Given the description of an element on the screen output the (x, y) to click on. 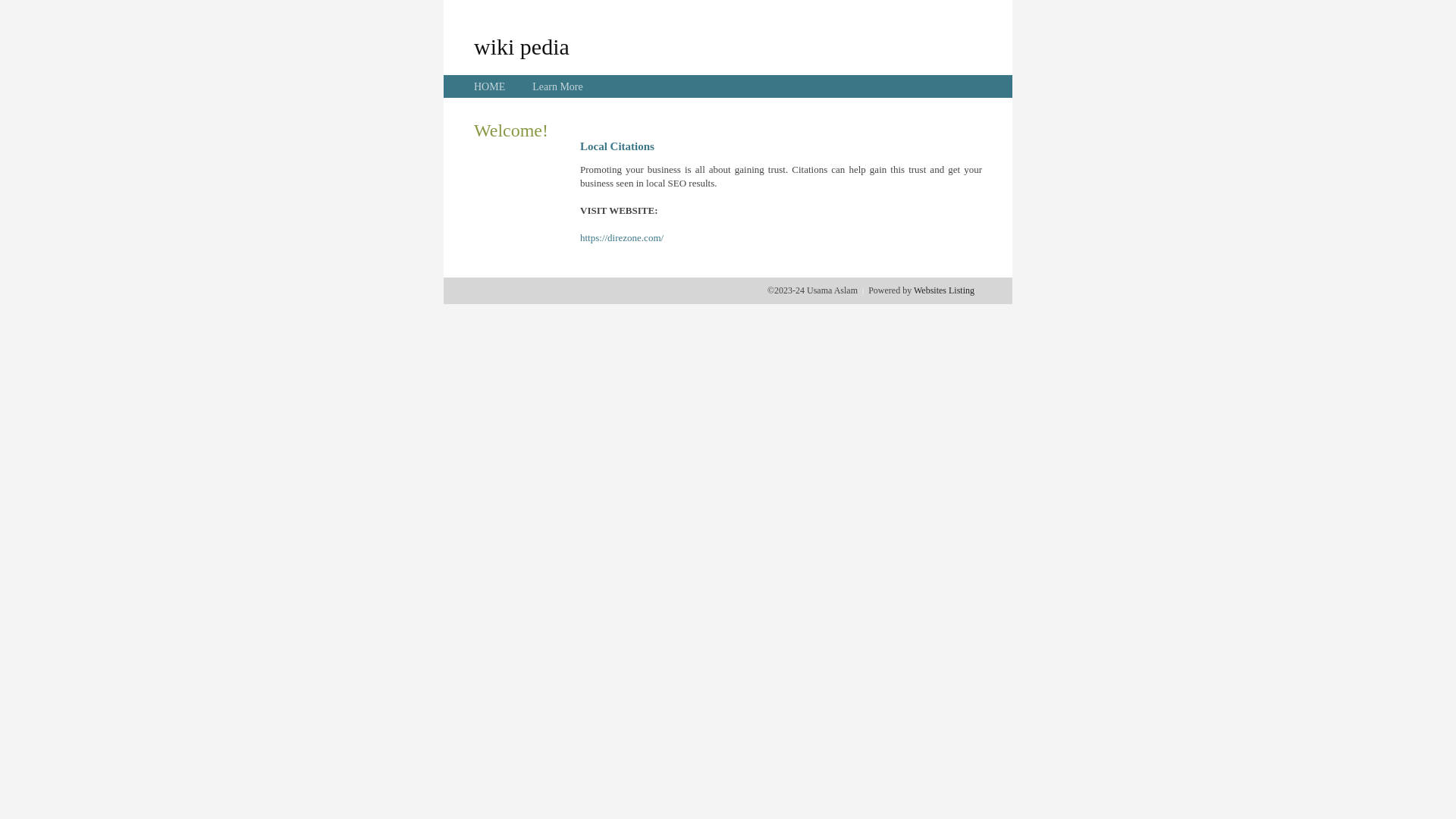
https://direzone.com/ Element type: text (621, 237)
Learn More Element type: text (557, 86)
HOME Element type: text (489, 86)
wiki pedia Element type: text (521, 46)
Websites Listing Element type: text (943, 290)
